Given the description of an element on the screen output the (x, y) to click on. 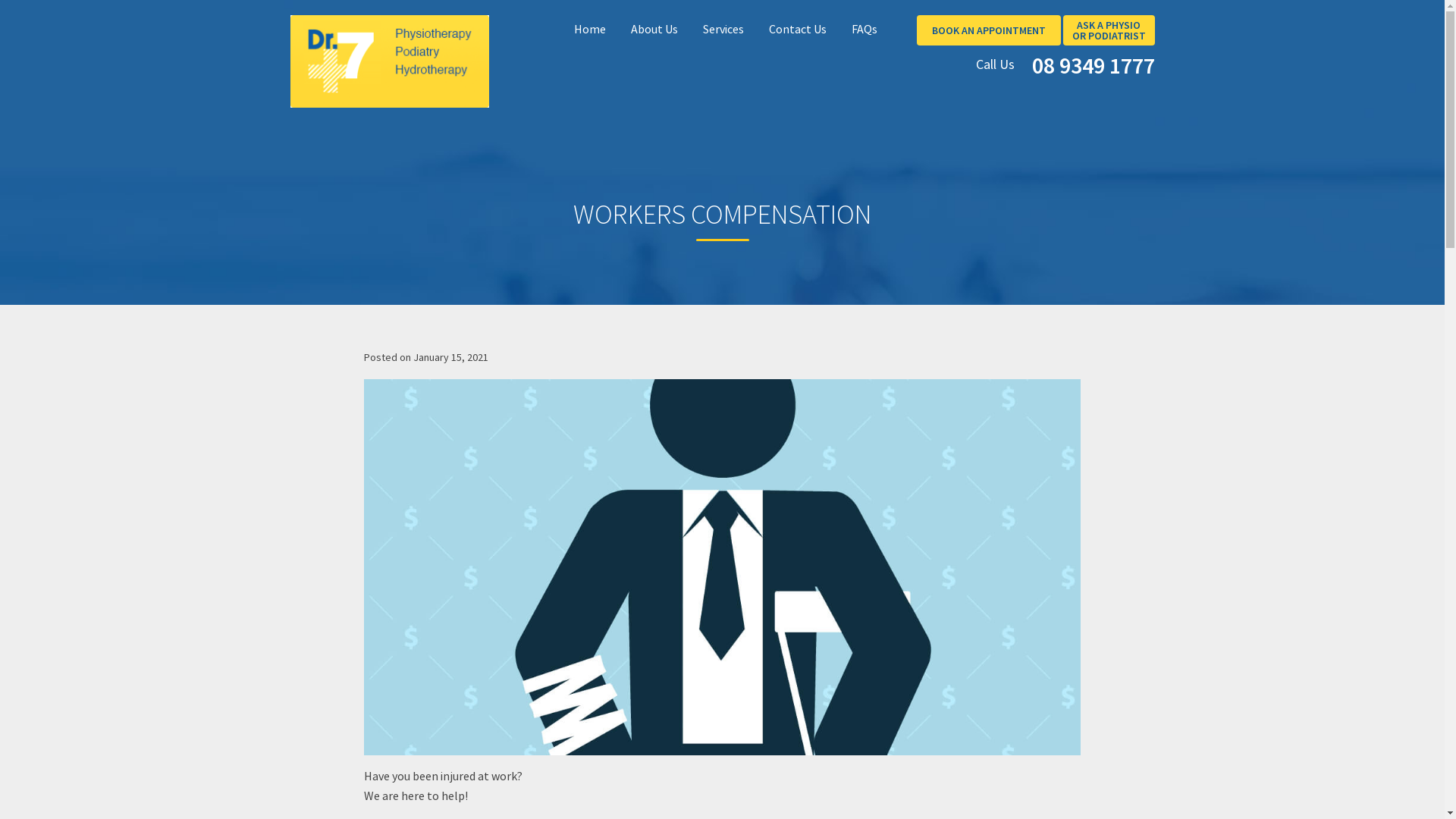
About Us Element type: text (653, 28)
BOOK AN APPOINTMENT Element type: text (988, 30)
08 9349 1777 Element type: text (1088, 60)
Contact Us Element type: text (797, 28)
Home Element type: text (589, 28)
Services Element type: text (722, 28)
ASK A PHYSIO
OR PODIATRIST Element type: text (1108, 30)
FAQs Element type: text (864, 28)
